Given the description of an element on the screen output the (x, y) to click on. 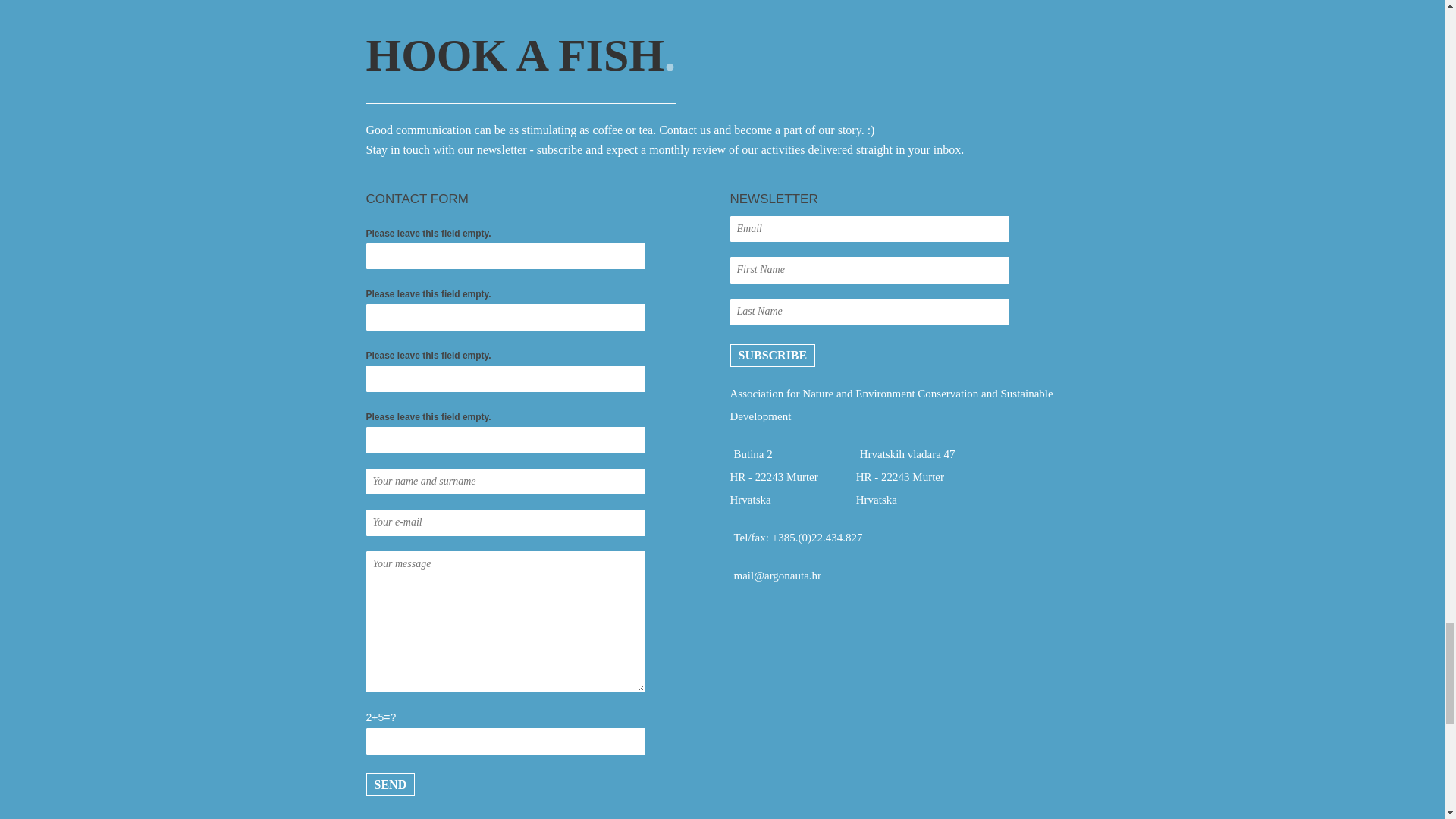
Send (389, 784)
